Given the description of an element on the screen output the (x, y) to click on. 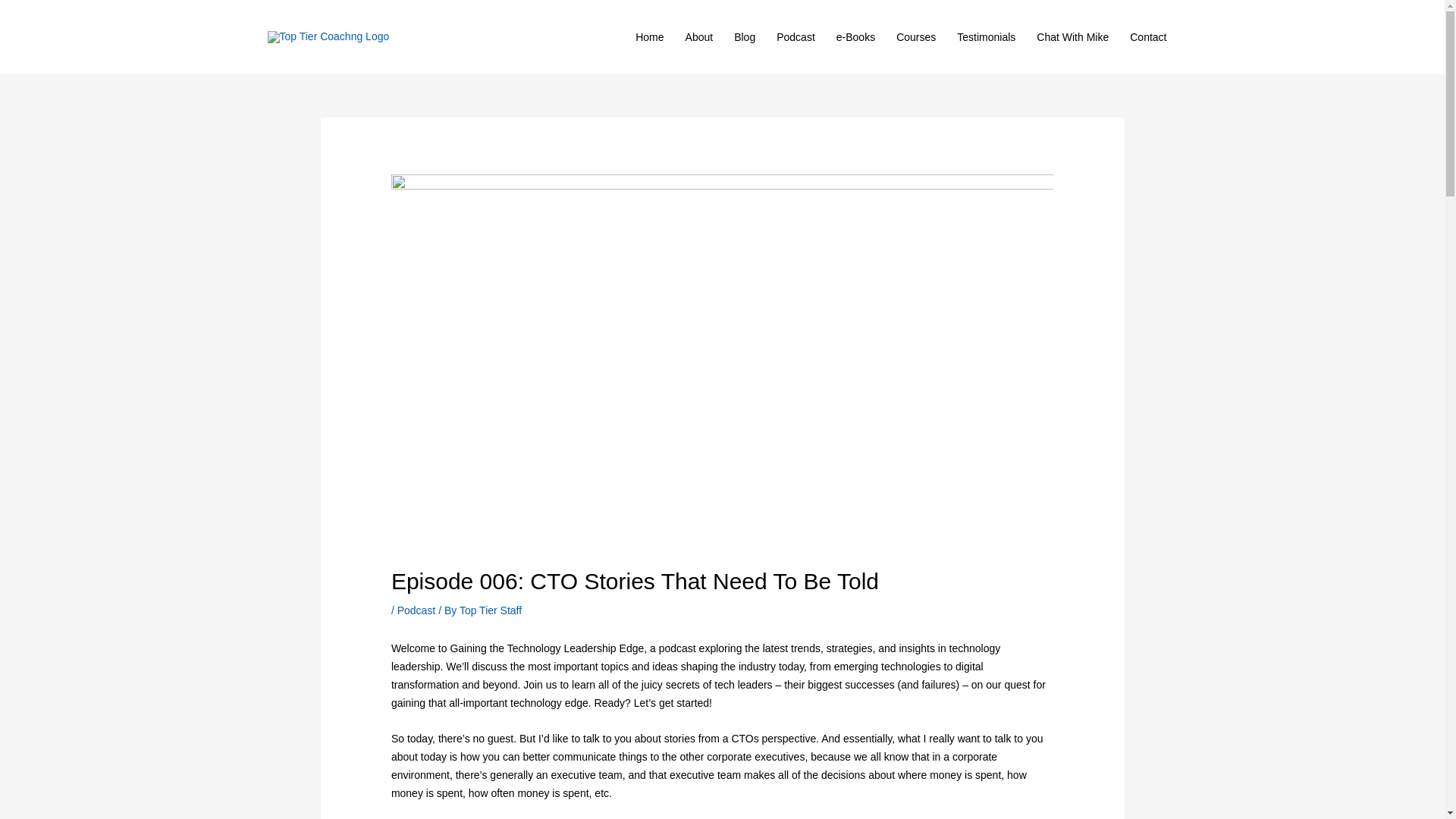
Podcast (795, 36)
Top Tier Staff (490, 610)
Testimonials (986, 36)
Home (649, 36)
e-Books (855, 36)
About (699, 36)
Chat With Mike (1072, 36)
View all posts by Top Tier Staff (490, 610)
Contact (1147, 36)
Courses (915, 36)
